Given the description of an element on the screen output the (x, y) to click on. 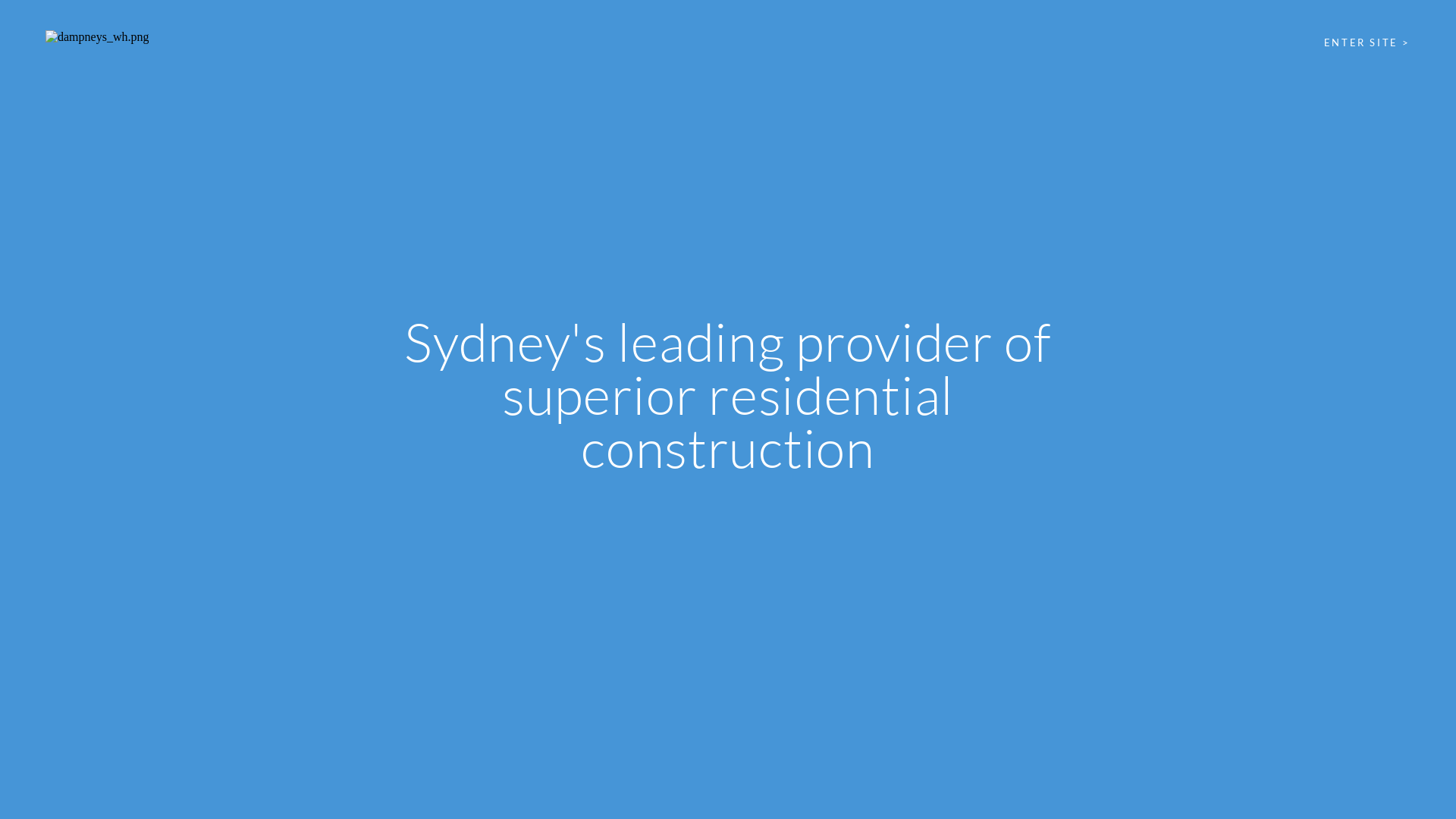
ENTER SITE > Element type: text (1367, 43)
